Given the description of an element on the screen output the (x, y) to click on. 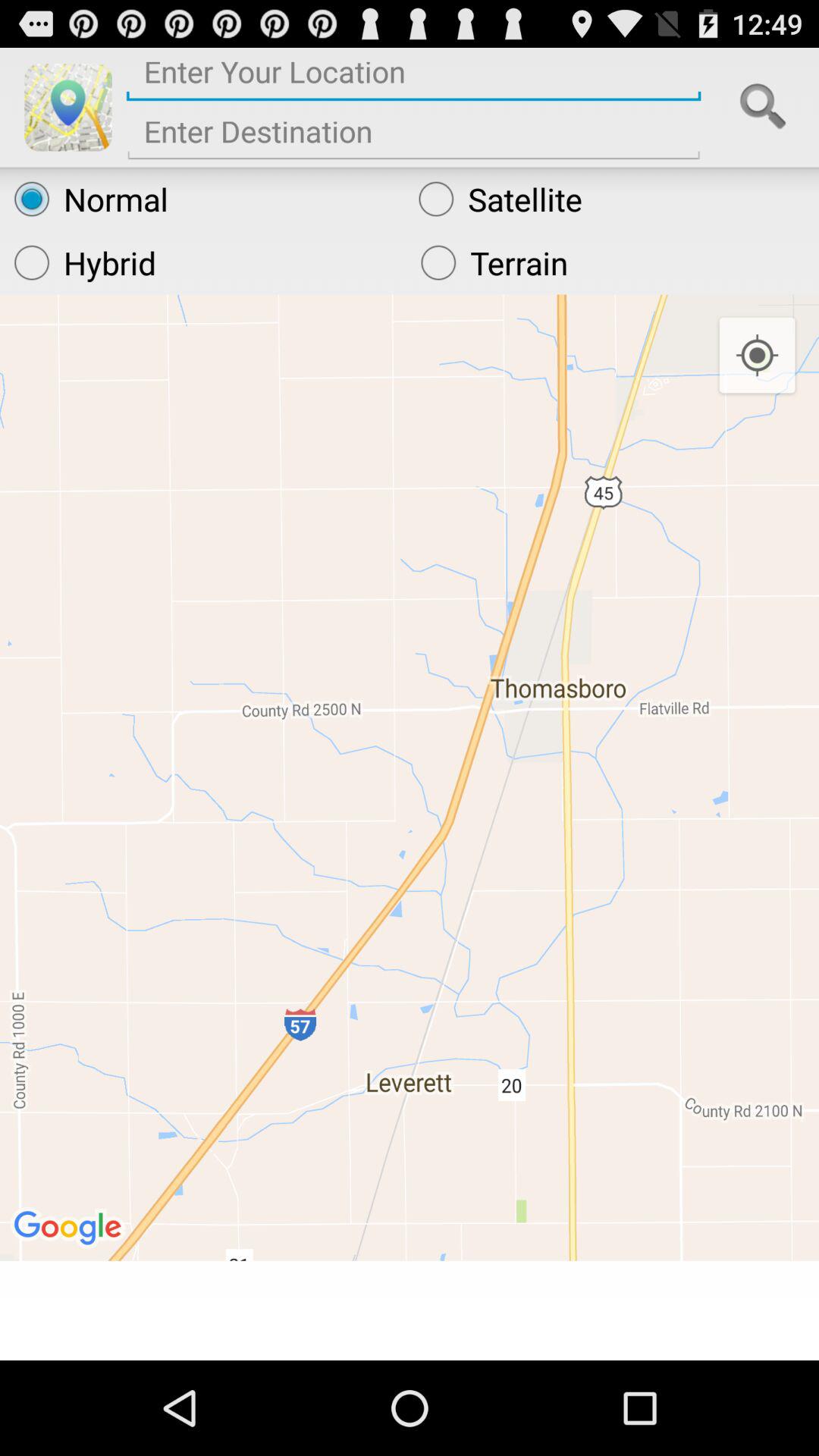
location input field (413, 77)
